Given the description of an element on the screen output the (x, y) to click on. 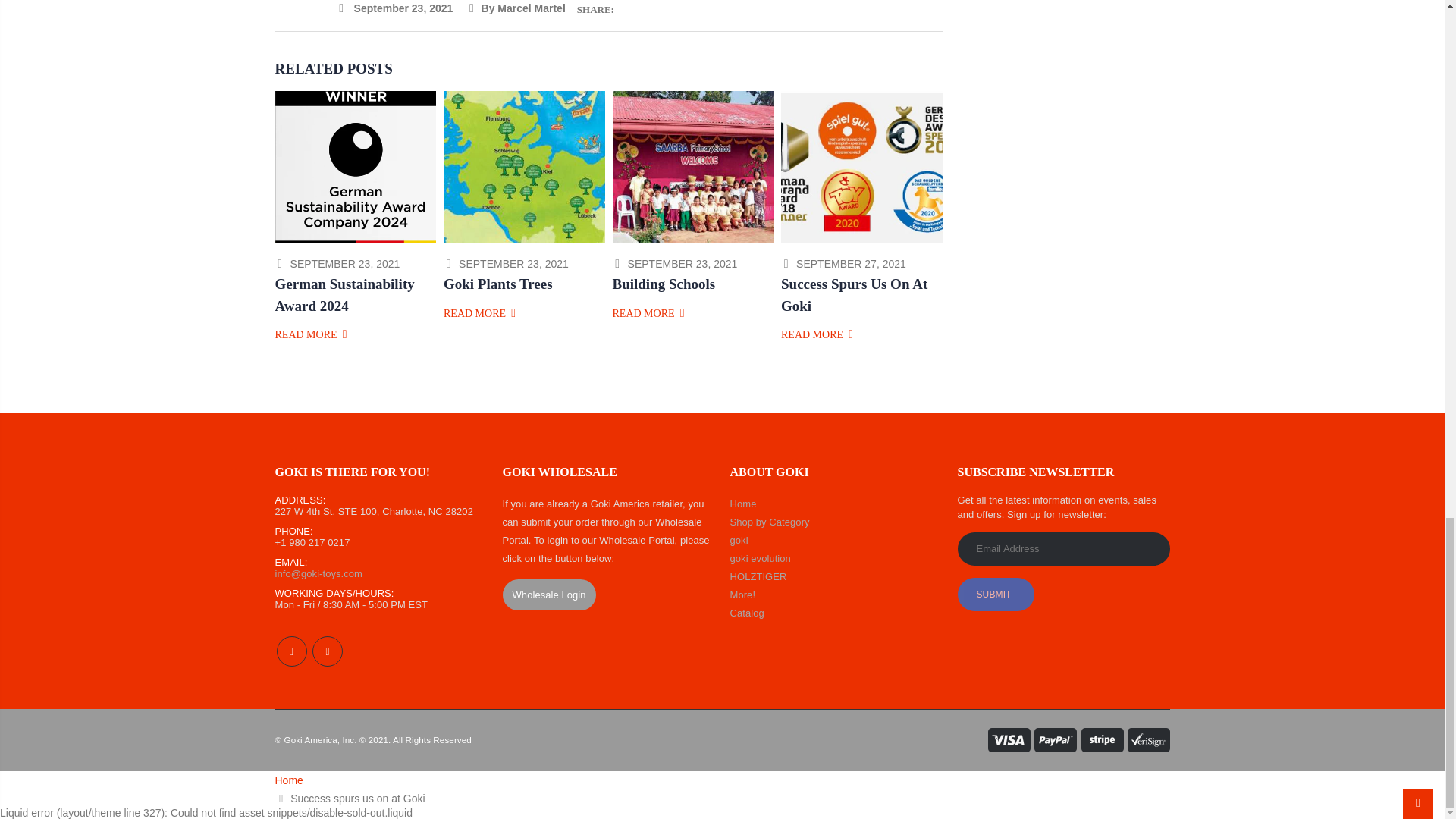
Back to the frontpage (288, 779)
